Given the description of an element on the screen output the (x, y) to click on. 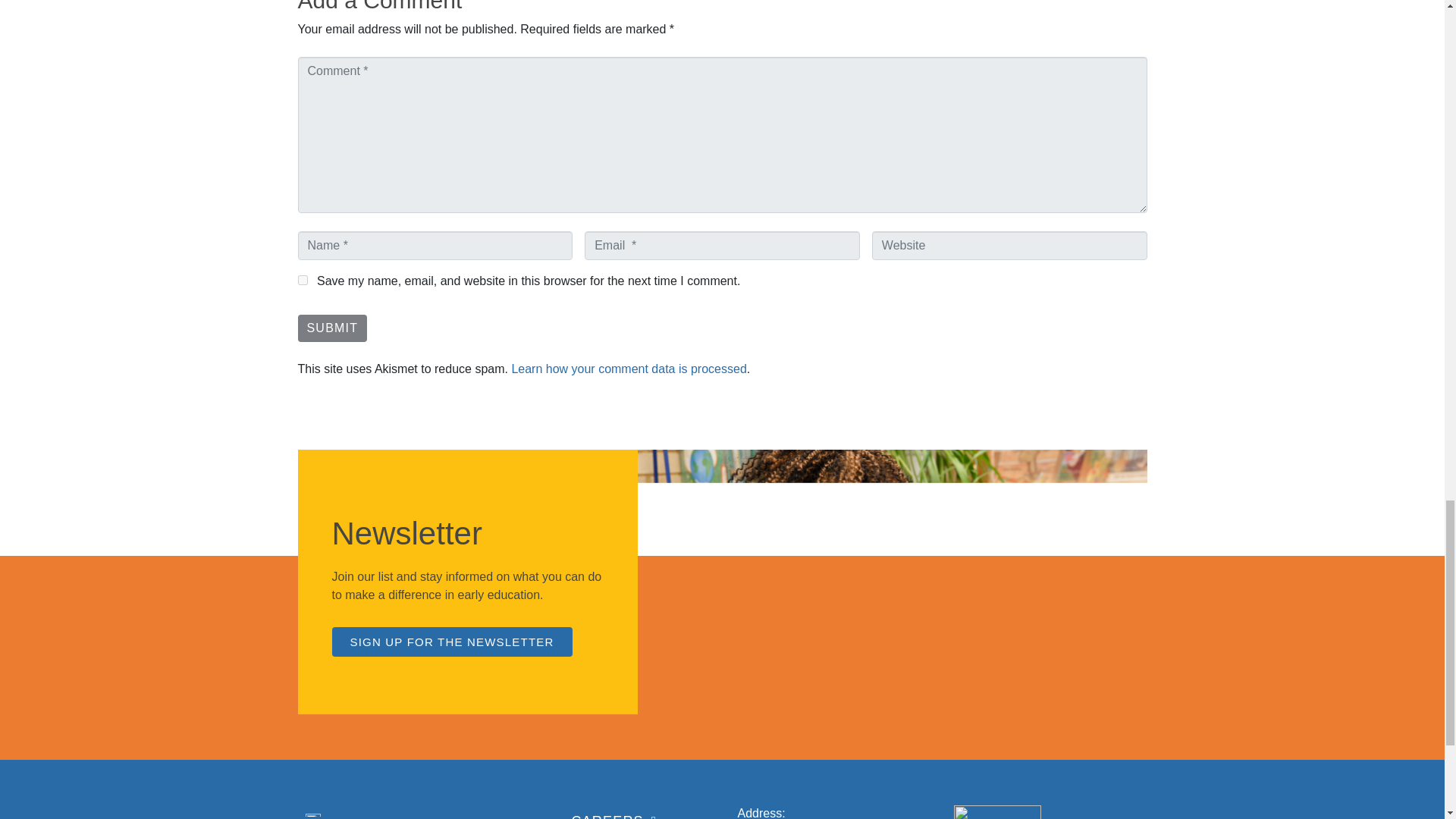
yes (302, 280)
